Given the description of an element on the screen output the (x, y) to click on. 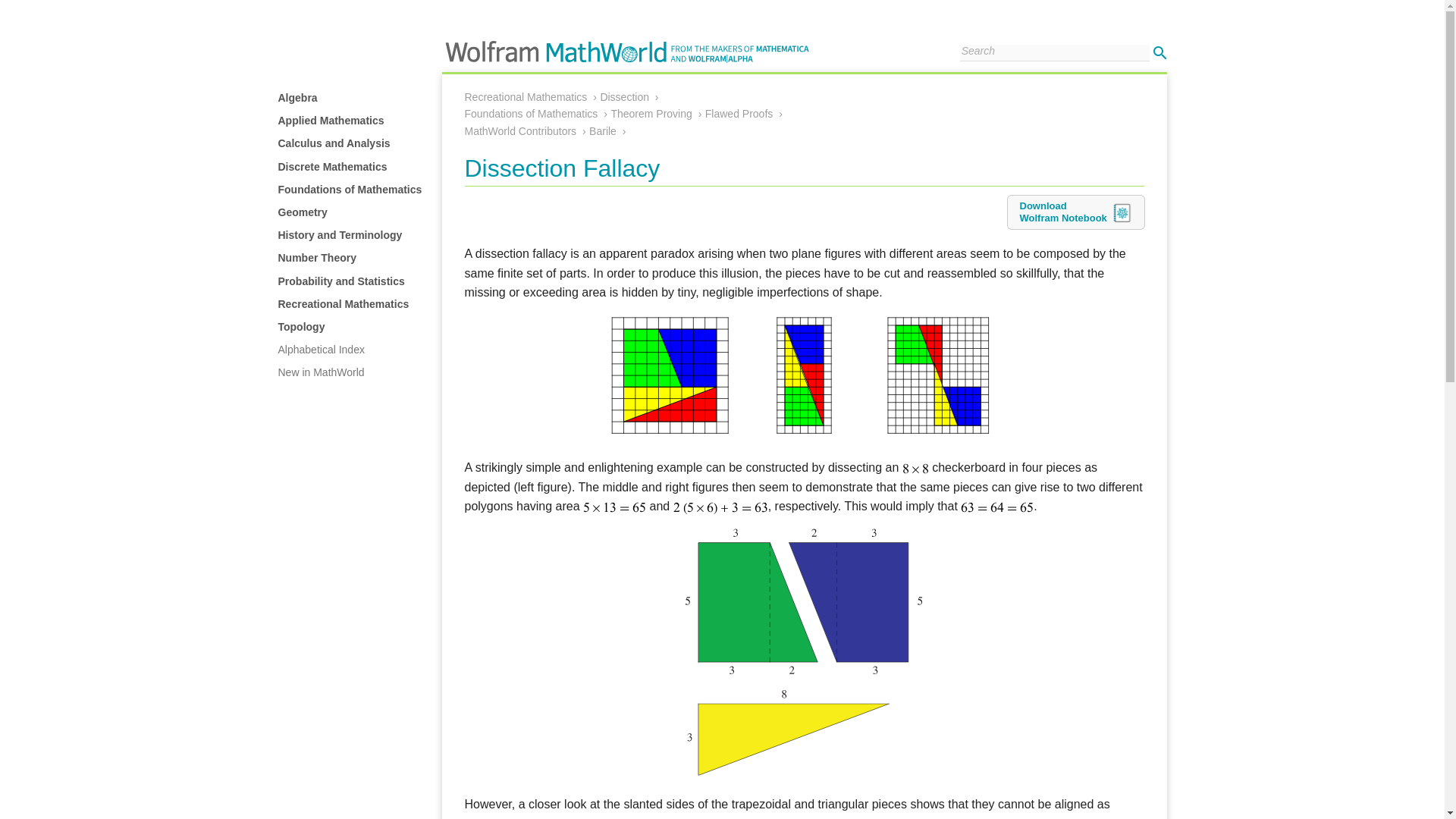
Alphabetical Index (321, 349)
Foundations of Mathematics (530, 113)
Download Wolfram Notebook (1074, 212)
Calculus and Analysis (334, 142)
MathWorld Contributors (520, 131)
Foundations of Mathematics (350, 189)
Topology (301, 326)
Search (1159, 52)
Applied Mathematics (331, 120)
Discrete Mathematics (332, 166)
